Given the description of an element on the screen output the (x, y) to click on. 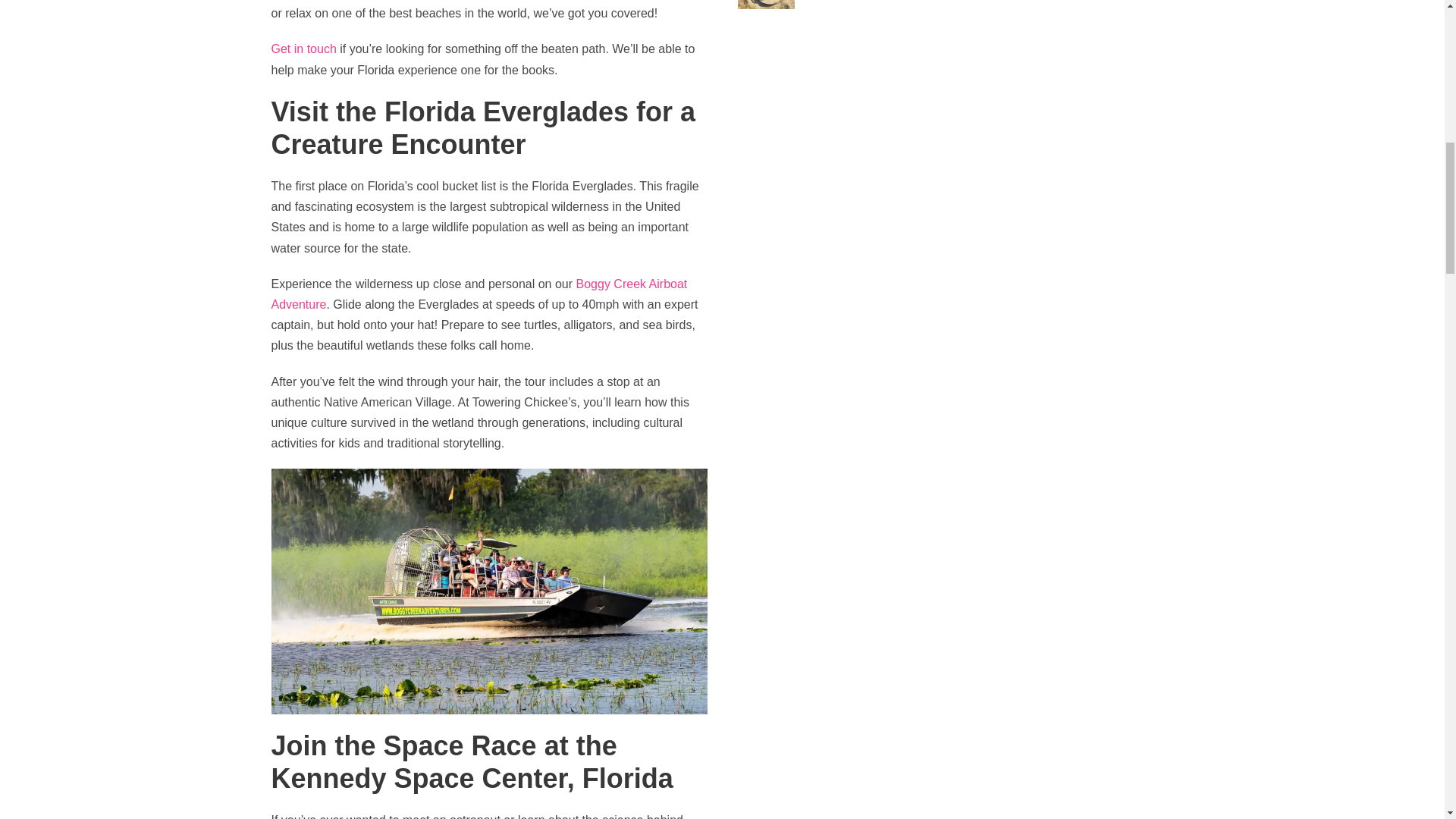
FareHarbor (1342, 64)
image-36 (764, 4)
